Given the description of an element on the screen output the (x, y) to click on. 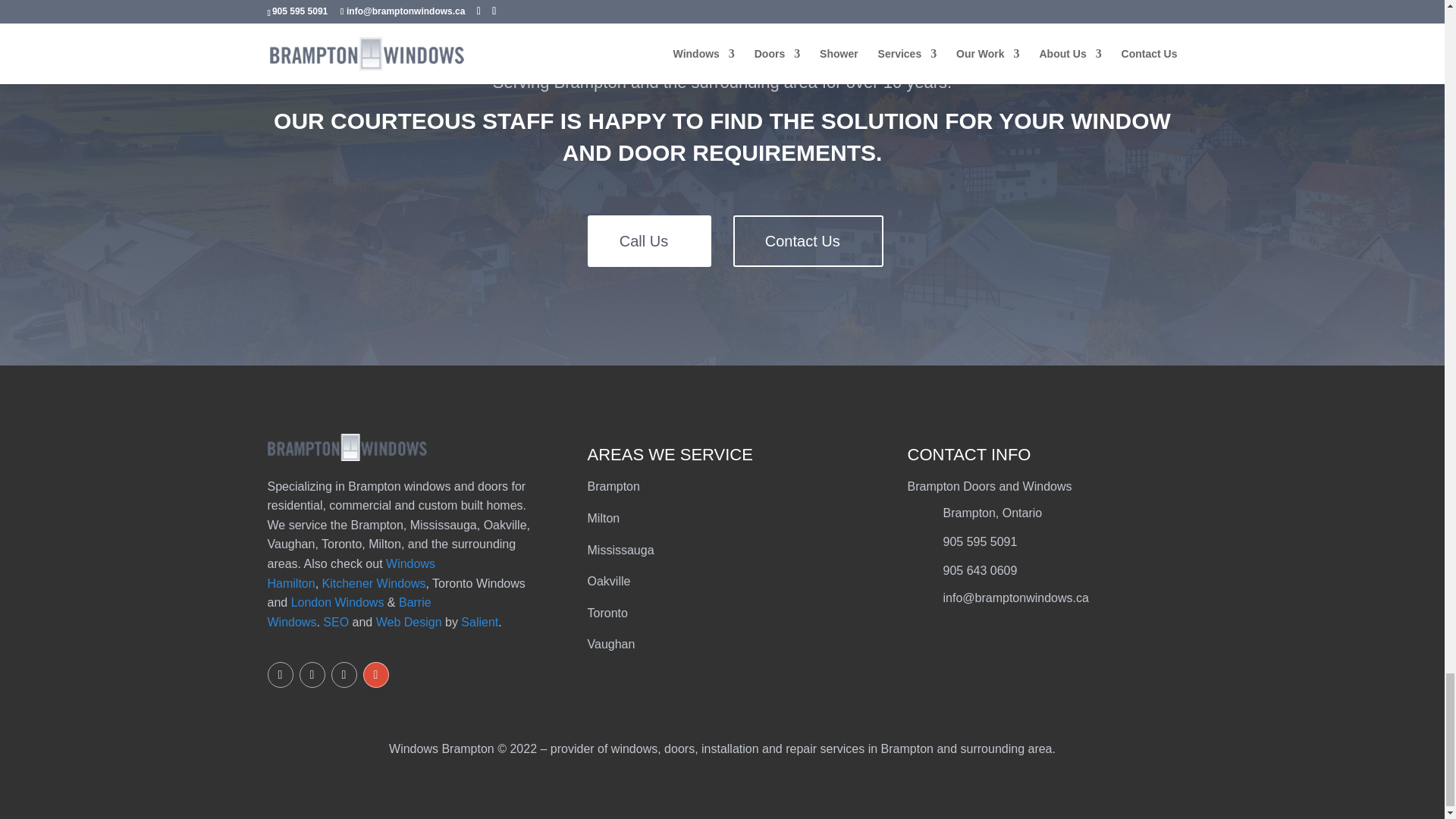
Follow on Youtube (343, 674)
brampton-windows-2 (346, 447)
Follow on Twitter (279, 674)
Follow on Pinterest (311, 674)
